Given the description of an element on the screen output the (x, y) to click on. 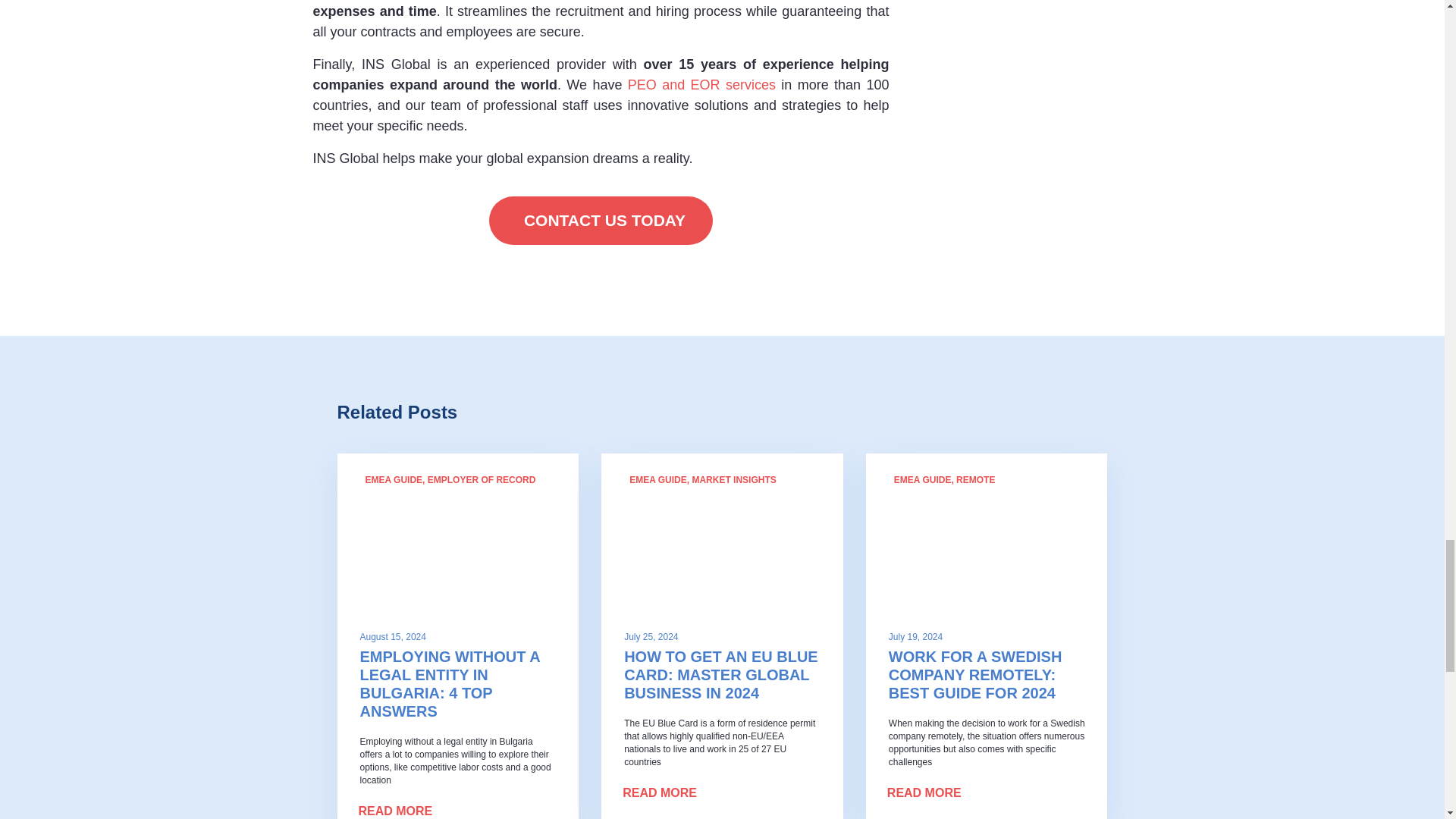
Icon feather-arrow-right (546, 813)
Icon feather-arrow-right (811, 795)
Icon feather-arrow-right (1074, 795)
